Given the description of an element on the screen output the (x, y) to click on. 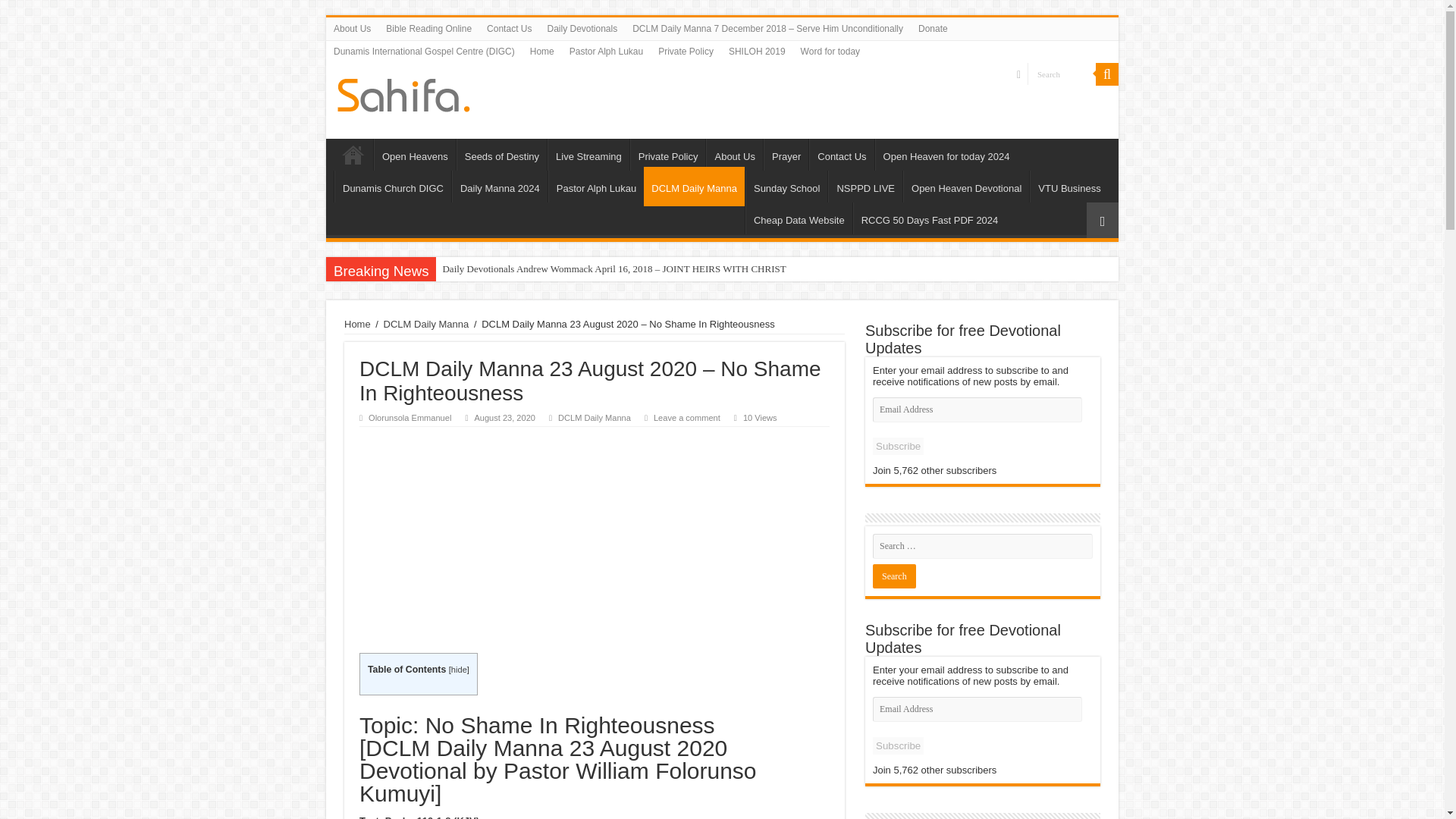
Search (893, 576)
Search (1107, 74)
Bible Reading Online (428, 28)
Seeds of Destiny (502, 154)
Word for today (830, 51)
Search (1061, 74)
Daily Inspirational devotionals (403, 92)
Home (352, 154)
Donate (933, 28)
Pastor Alph Lukau (606, 51)
Search (1061, 74)
Daily Devotionals (581, 28)
Contact Us (508, 28)
About Us (352, 28)
Private Policy (685, 51)
